Given the description of an element on the screen output the (x, y) to click on. 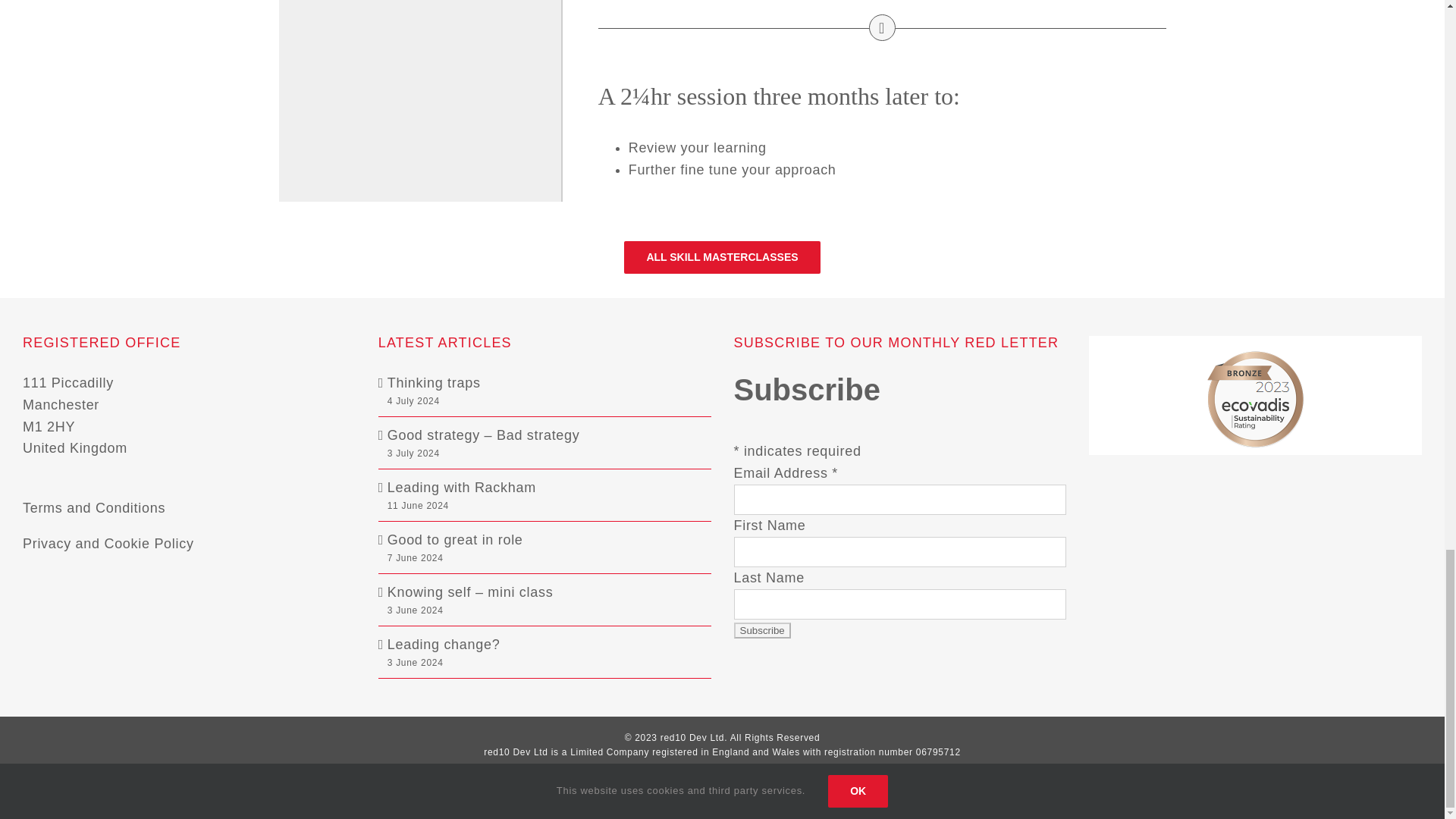
ALL SKILL MASTERCLASSES (722, 264)
Subscribe (761, 630)
